Given the description of an element on the screen output the (x, y) to click on. 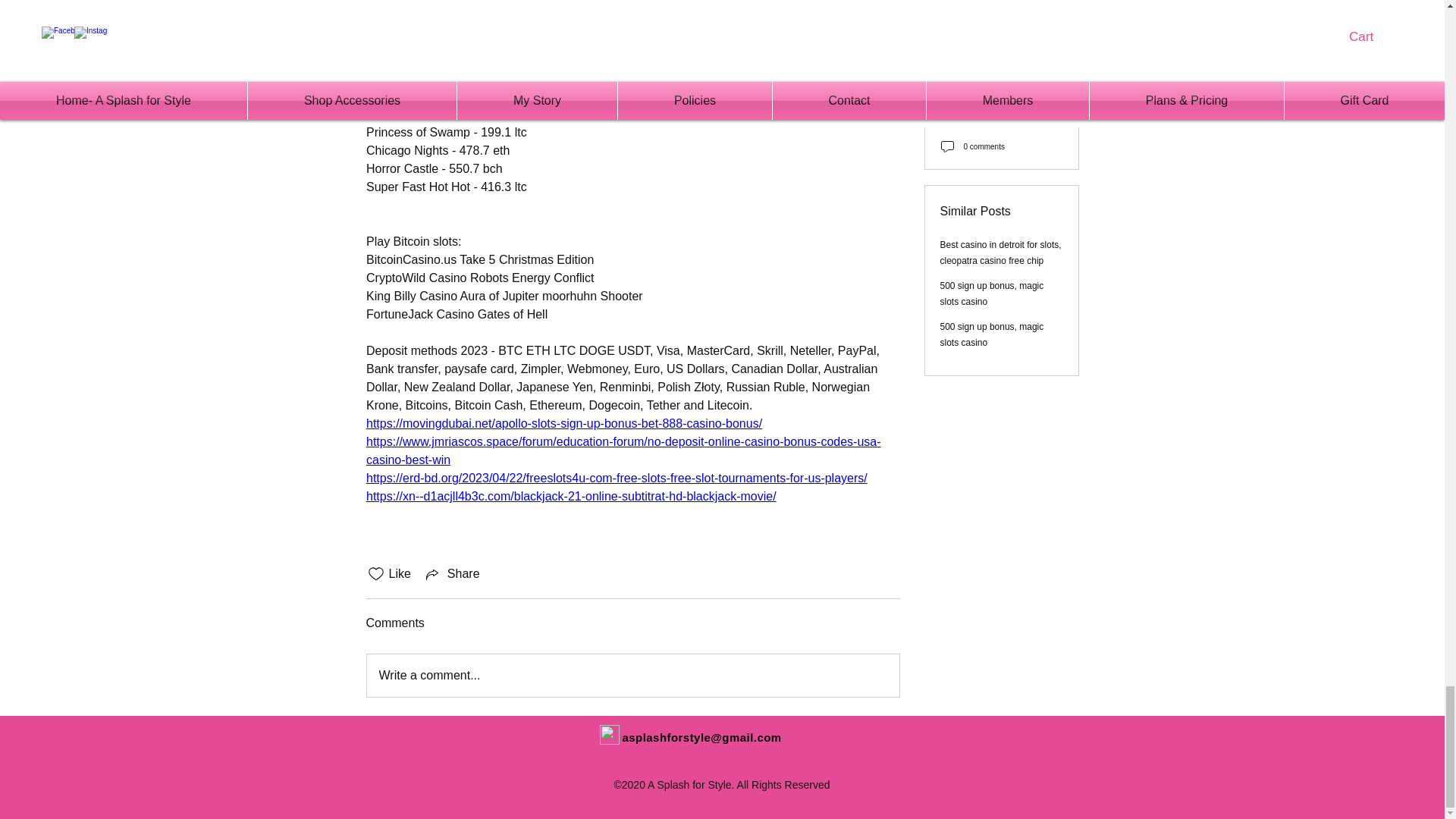
Share (451, 574)
Write a comment... (632, 675)
